Given the description of an element on the screen output the (x, y) to click on. 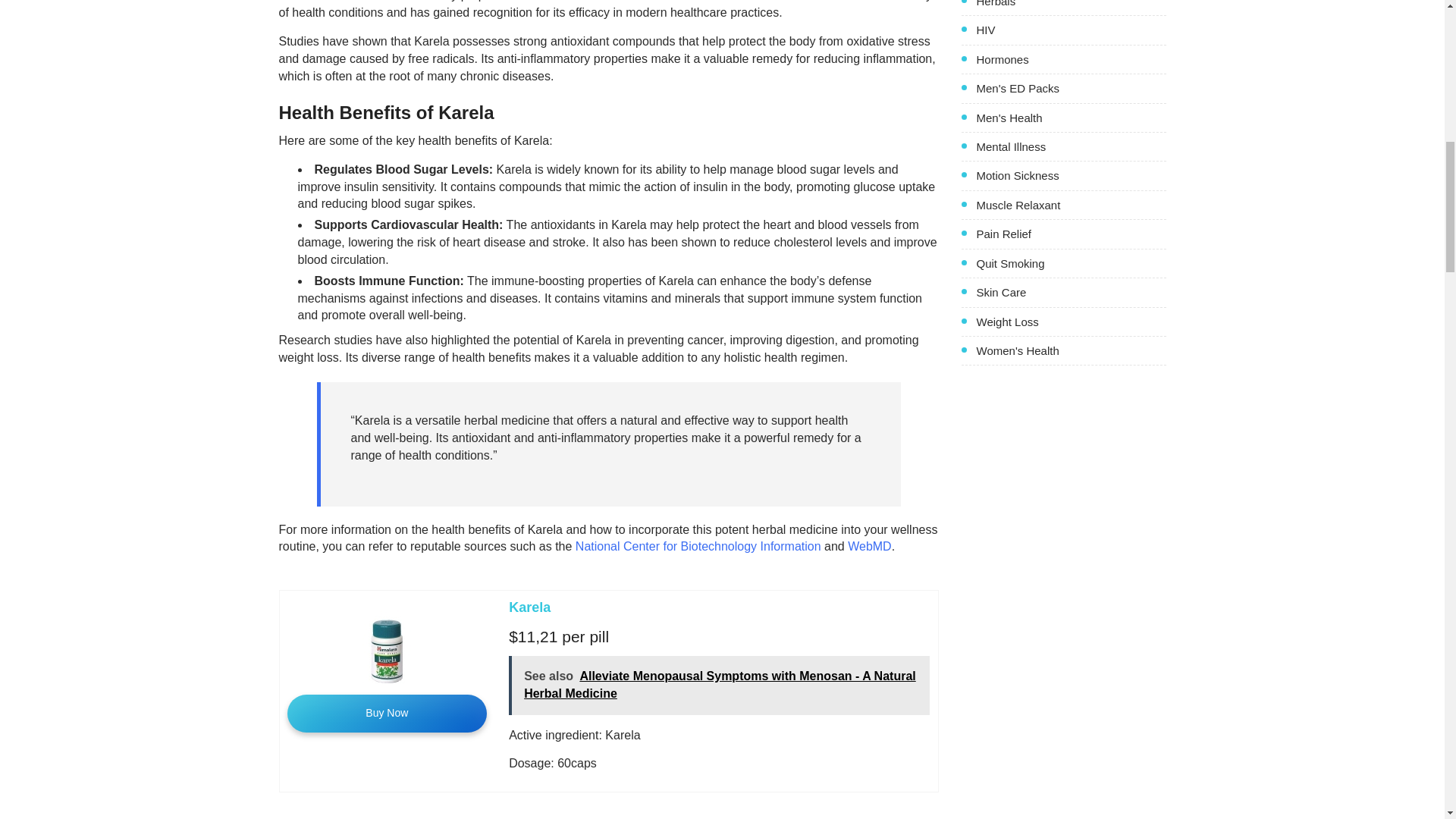
Karela (529, 607)
Buy Now (386, 713)
Buy Now (386, 713)
WebMD (869, 545)
Karela (529, 607)
National Center for Biotechnology Information (698, 545)
